Given the description of an element on the screen output the (x, y) to click on. 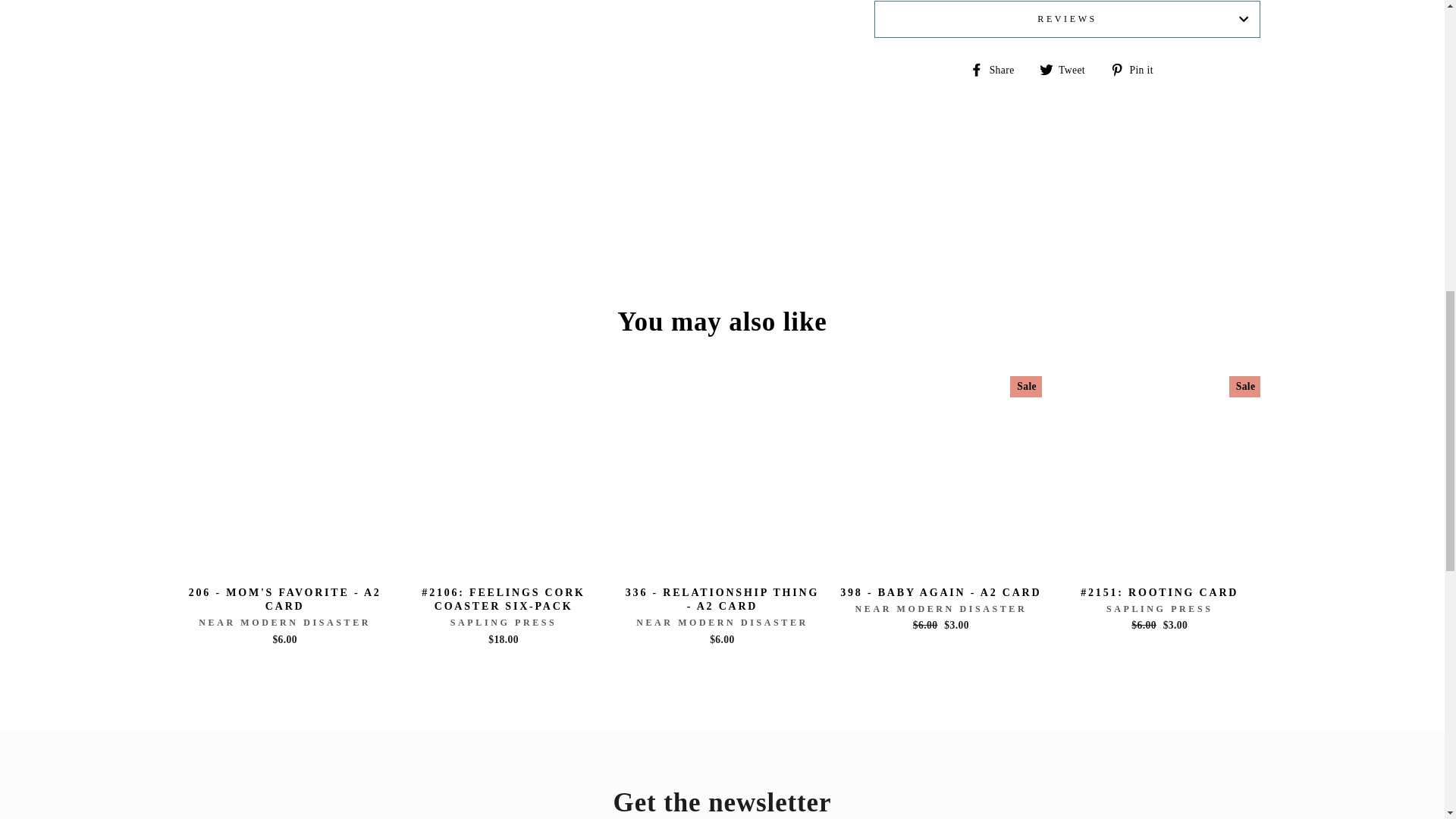
Pin on Pinterest (1136, 68)
Share on Facebook (997, 68)
Tweet on Twitter (1067, 68)
